Given the description of an element on the screen output the (x, y) to click on. 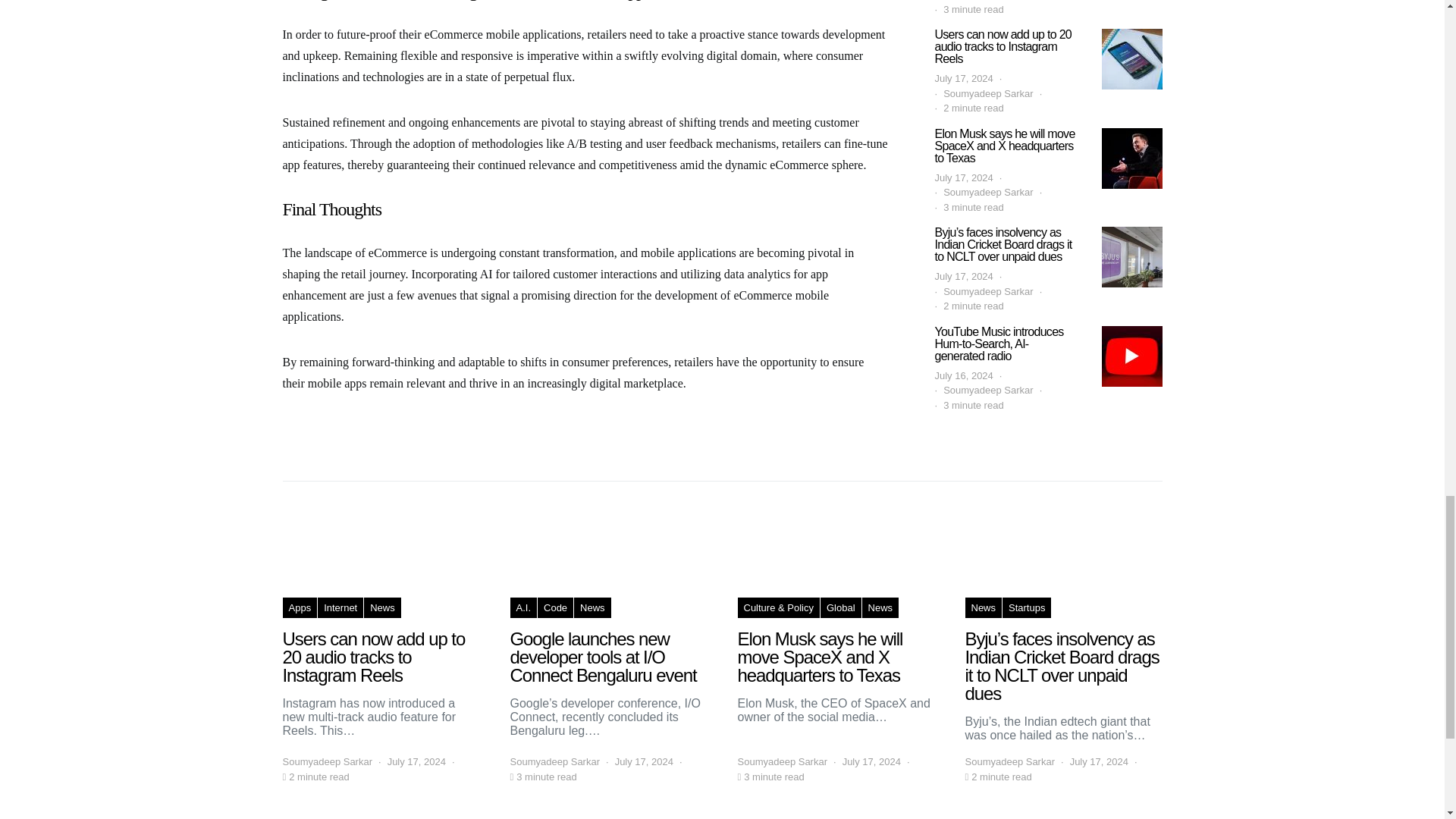
View all posts by Soumyadeep Sarkar (1008, 761)
View all posts by Soumyadeep Sarkar (554, 761)
View all posts by Soumyadeep Sarkar (327, 761)
View all posts by Soumyadeep Sarkar (781, 761)
